Given the description of an element on the screen output the (x, y) to click on. 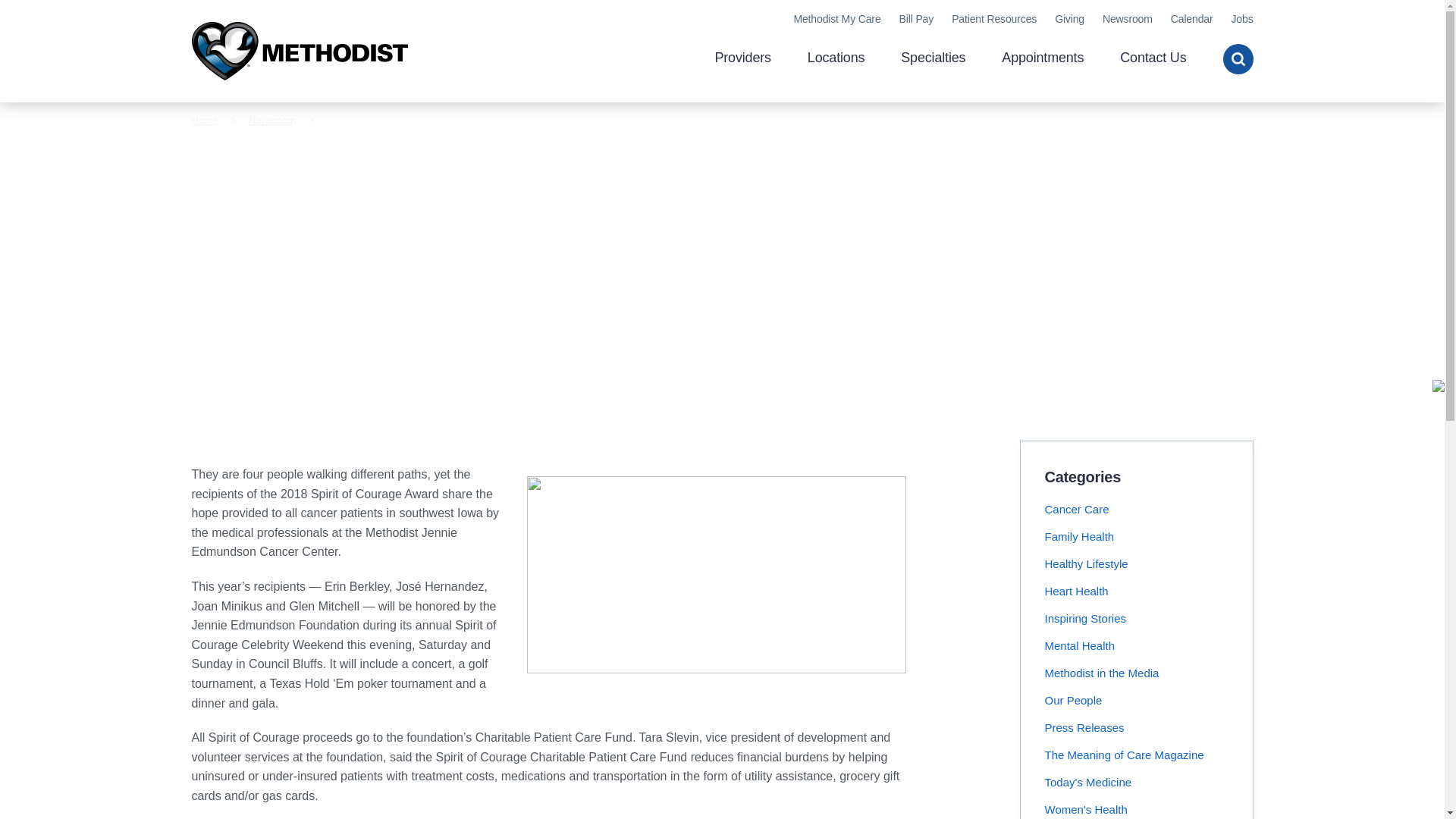
Cancer Care (1077, 508)
Today's Medicine (1088, 781)
Family Health (1080, 535)
Jobs (1241, 19)
Contact Us (1152, 59)
Methodist My Care (836, 19)
Skip to main content (721, 6)
Press Releases (1084, 727)
Healthy Lifestyle (1086, 563)
Inspiring Stories (1085, 617)
